Given the description of an element on the screen output the (x, y) to click on. 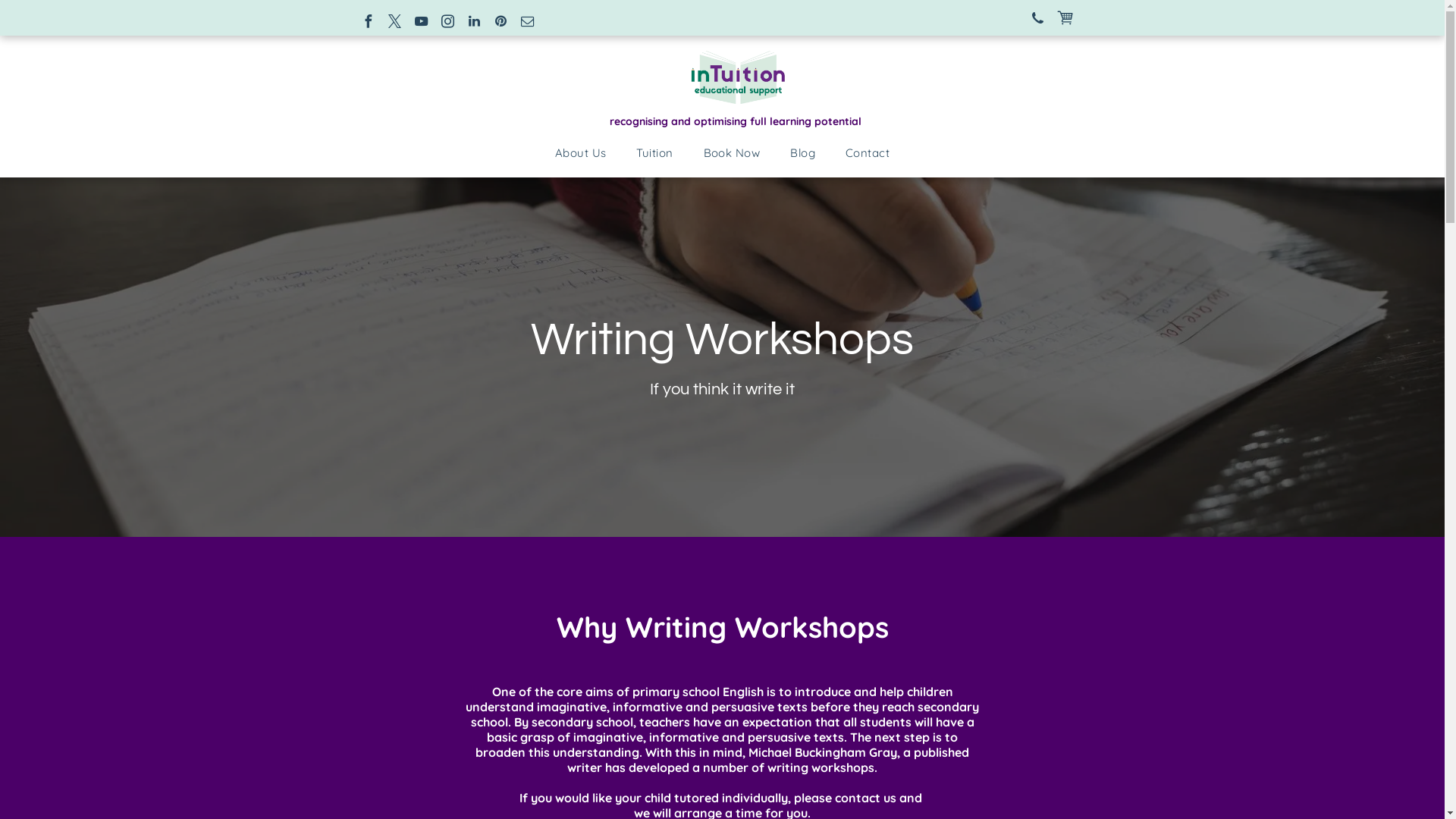
Contact Element type: text (867, 152)
Blog Element type: text (802, 152)
Tuition Element type: text (654, 152)
About Us Element type: text (580, 152)
Book Now Element type: text (731, 152)
